Given the description of an element on the screen output the (x, y) to click on. 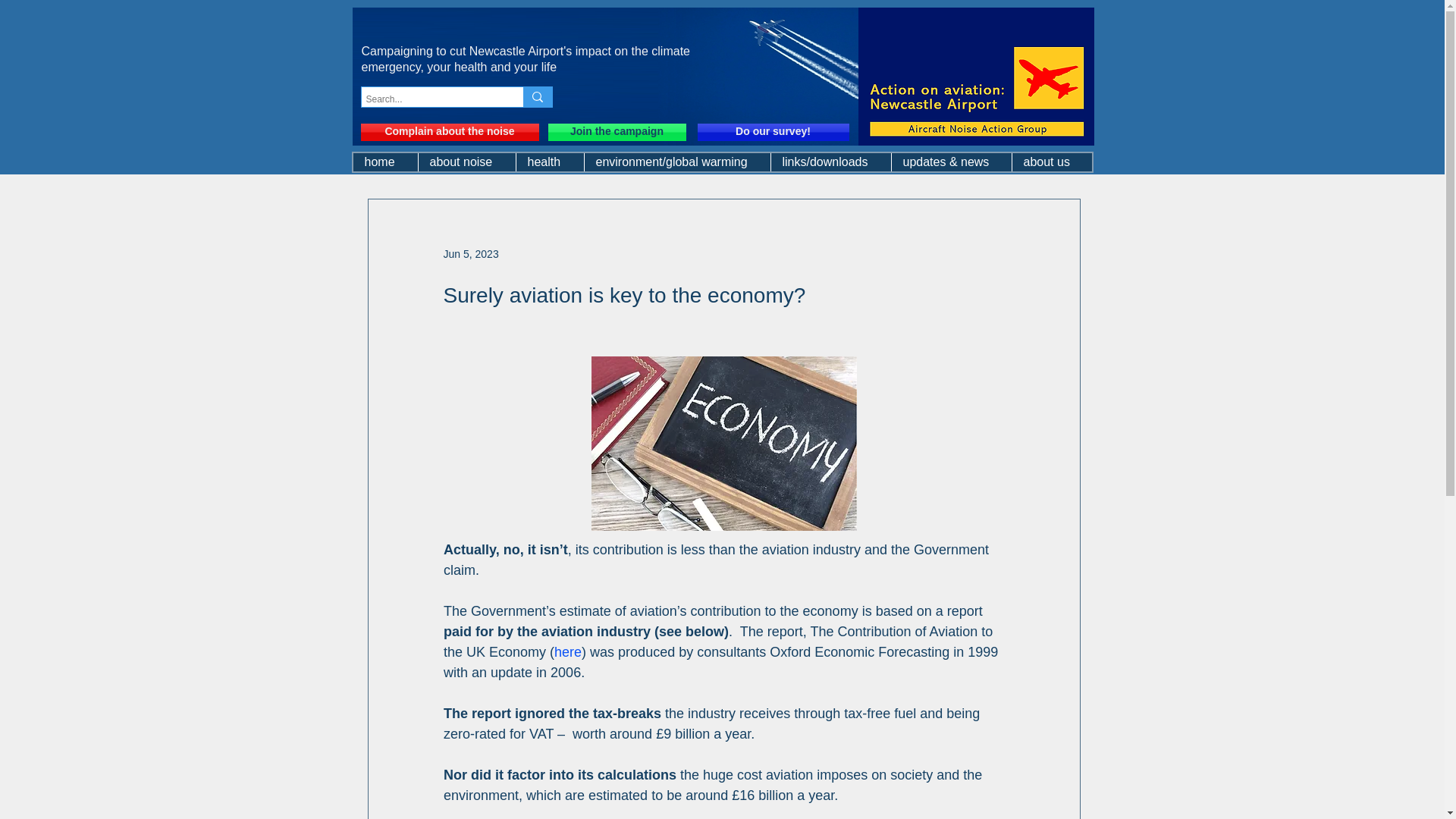
Jun 5, 2023 (469, 253)
health (549, 162)
Click here to go to our home page (672, 76)
Do our survey! (772, 131)
Join the campaign (616, 131)
home (385, 162)
here (567, 652)
about us (1051, 162)
Complain about the noise (449, 131)
ANAG logo 4-2.png (976, 76)
